Given the description of an element on the screen output the (x, y) to click on. 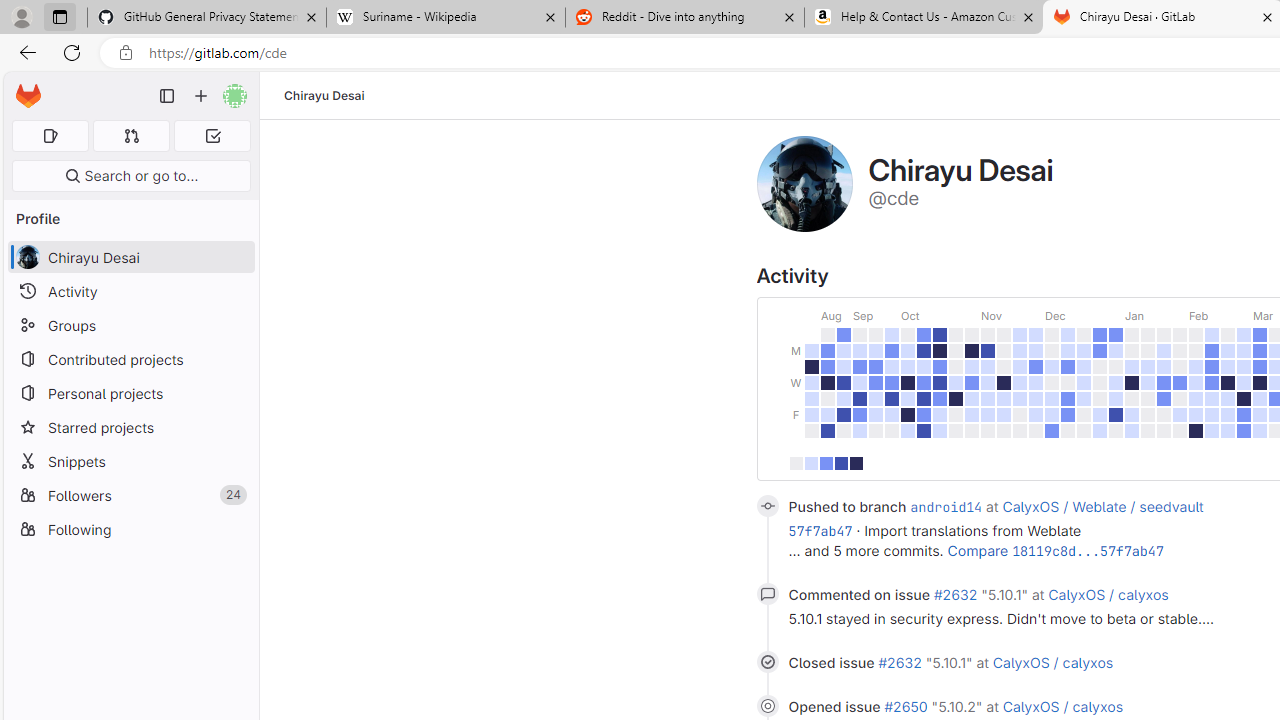
Help & Contact Us - Amazon Customer Service (924, 17)
Groups (130, 325)
